Given the description of an element on the screen output the (x, y) to click on. 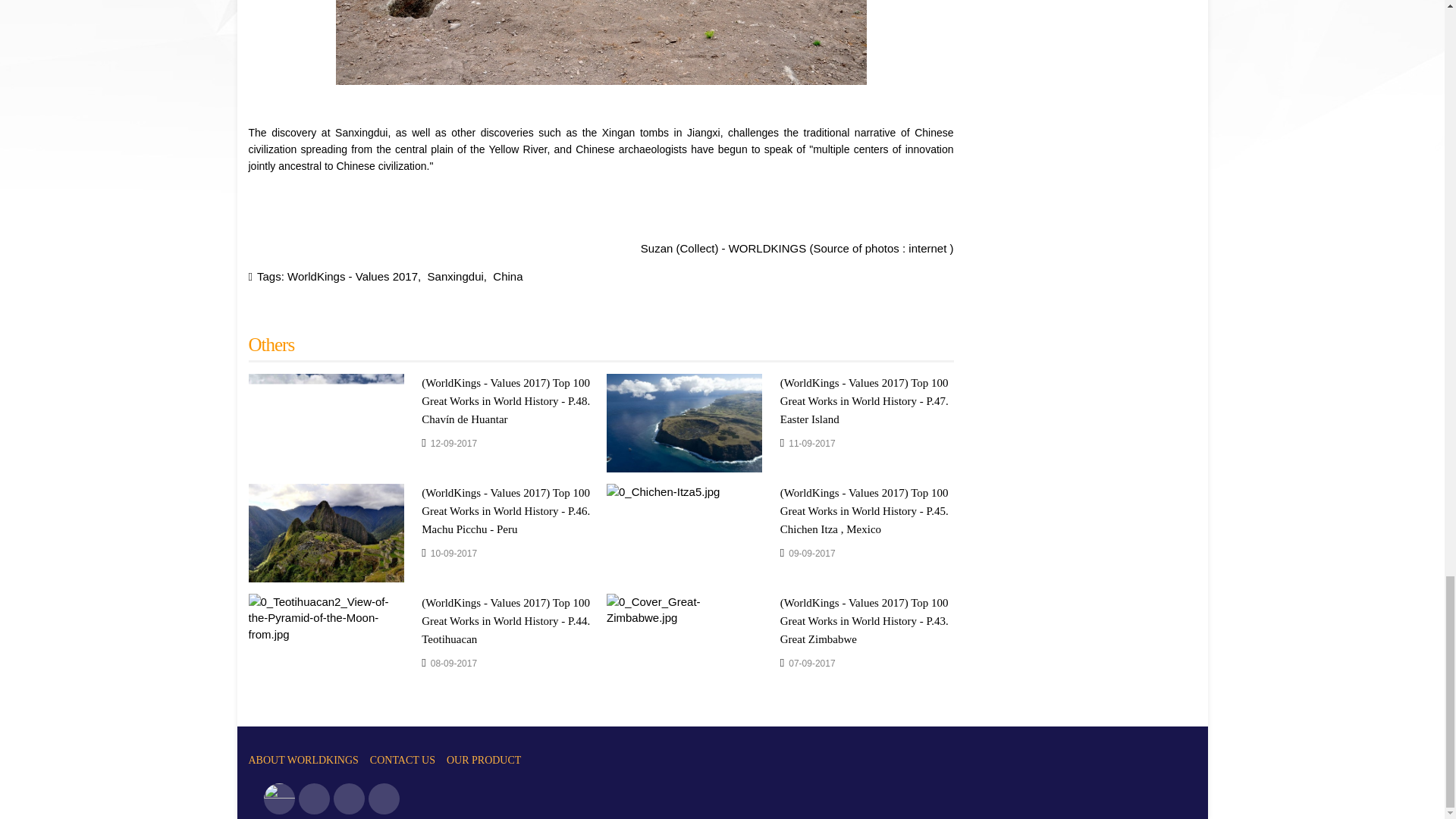
Sanxingdui (455, 276)
China (507, 276)
WorldKings - Values 2017 (351, 276)
